Given the description of an element on the screen output the (x, y) to click on. 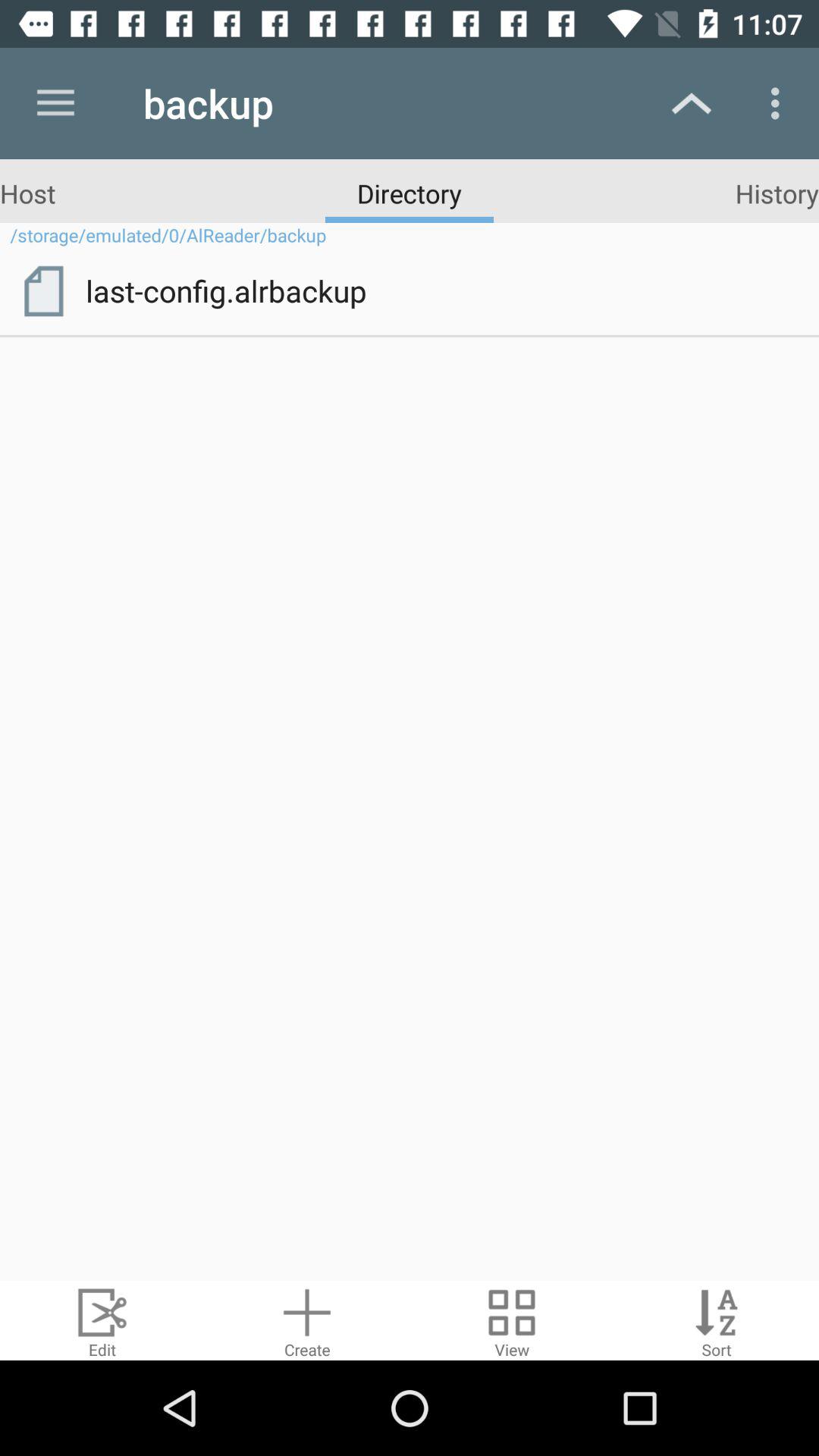
press icon below storage emulated 0 item (43, 291)
